Given the description of an element on the screen output the (x, y) to click on. 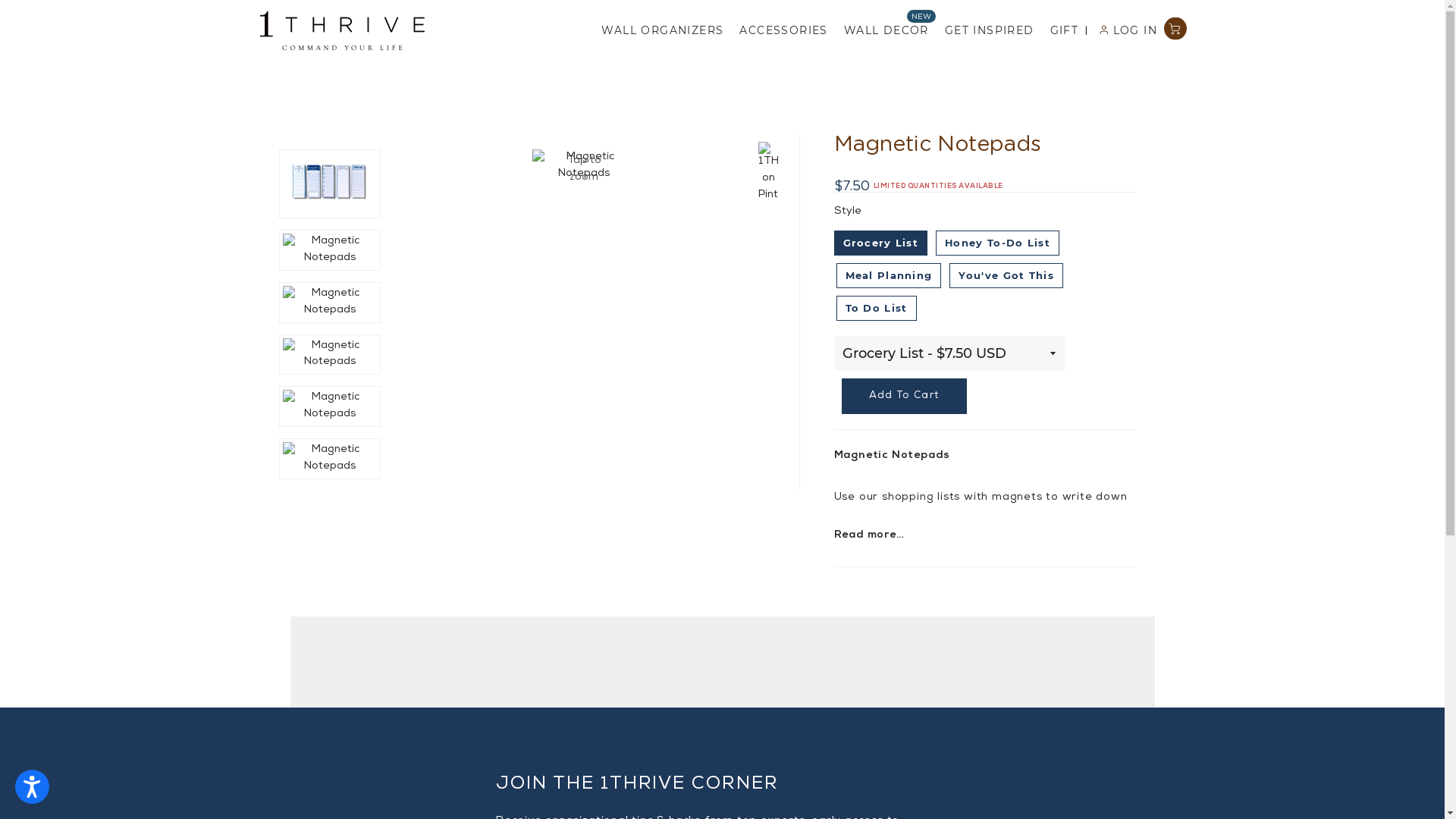
Add To Cart Element type: text (903, 395)
WALL ORGANIZERS Element type: text (659, 30)
1THRIVE Element type: text (341, 30)
GET INSPIRED Element type: text (986, 30)
Pin on Pinterest Element type: hover (767, 172)
LOG IN Element type: text (1125, 30)
WALL DECOR Element type: text (883, 30)
ACCESSORIES Element type: text (780, 30)
GIFT Element type: text (1061, 30)
0 Element type: text (1174, 30)
